Given the description of an element on the screen output the (x, y) to click on. 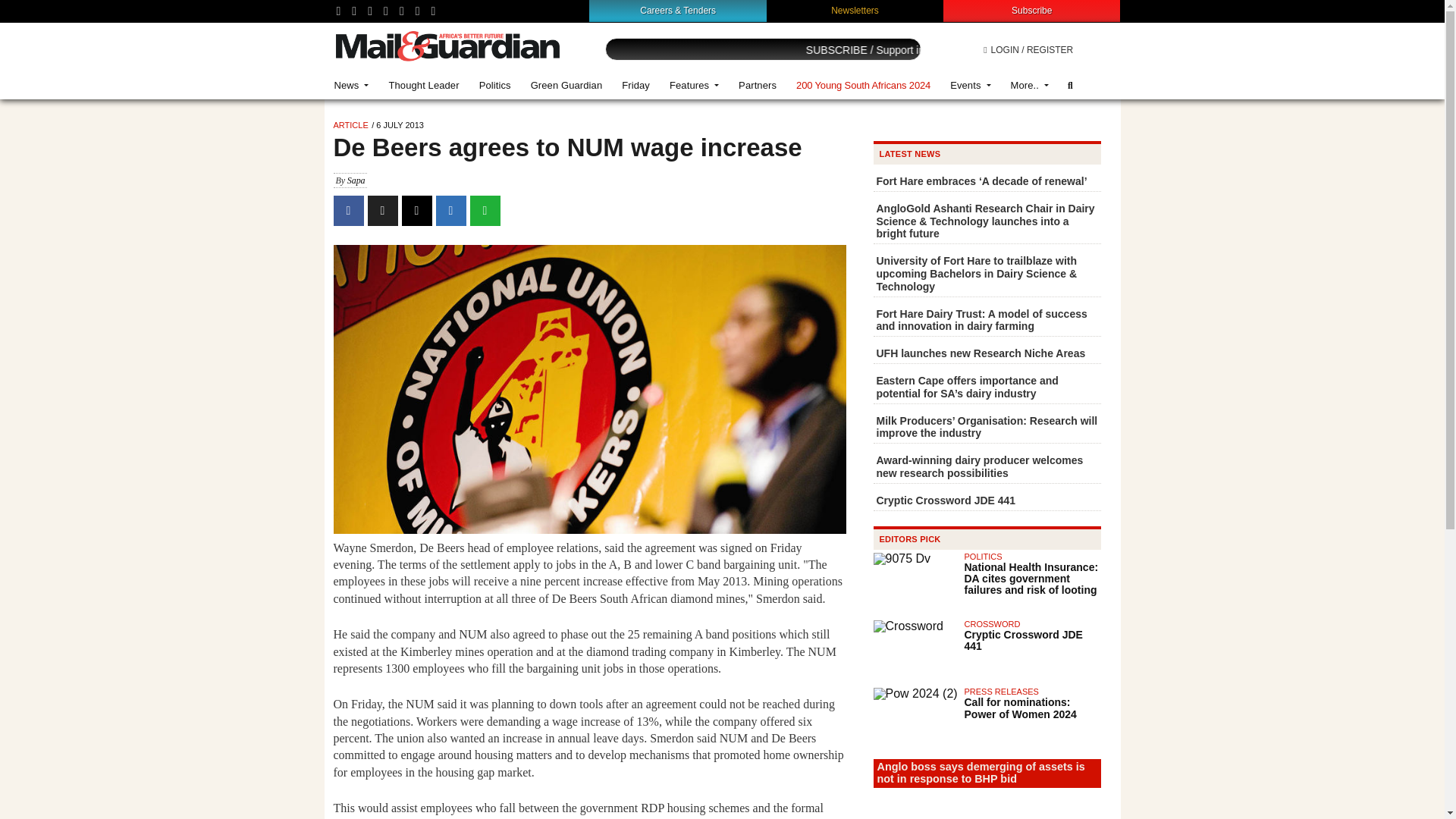
Newsletters (855, 9)
News (351, 85)
Subscribe (1031, 9)
Green Guardian (566, 85)
Thought Leader (423, 85)
News (351, 85)
Friday (635, 85)
Politics (494, 85)
Features (694, 85)
